Given the description of an element on the screen output the (x, y) to click on. 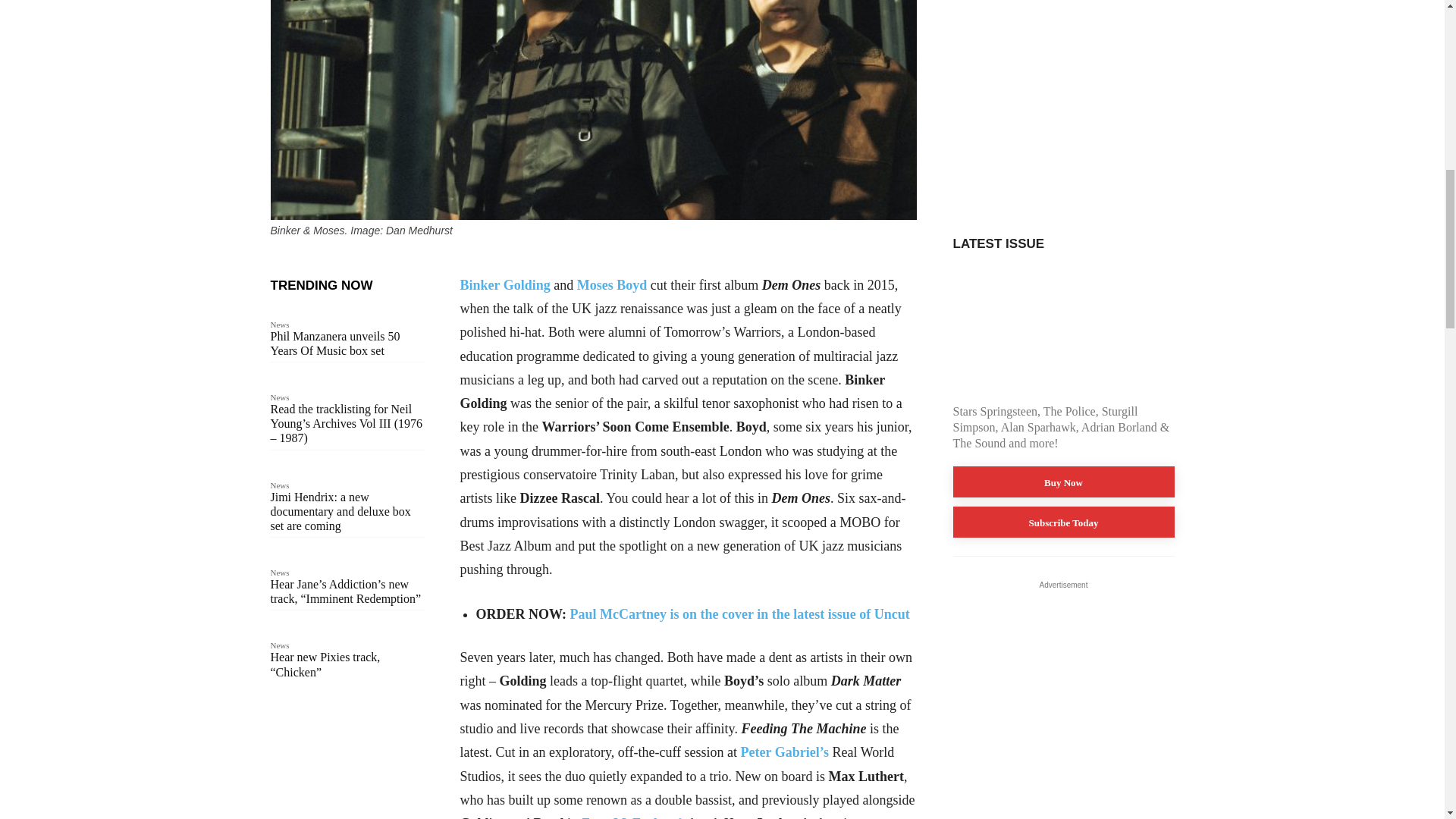
Phil Manzanera unveils 50 Years Of Music box set (333, 343)
